Given the description of an element on the screen output the (x, y) to click on. 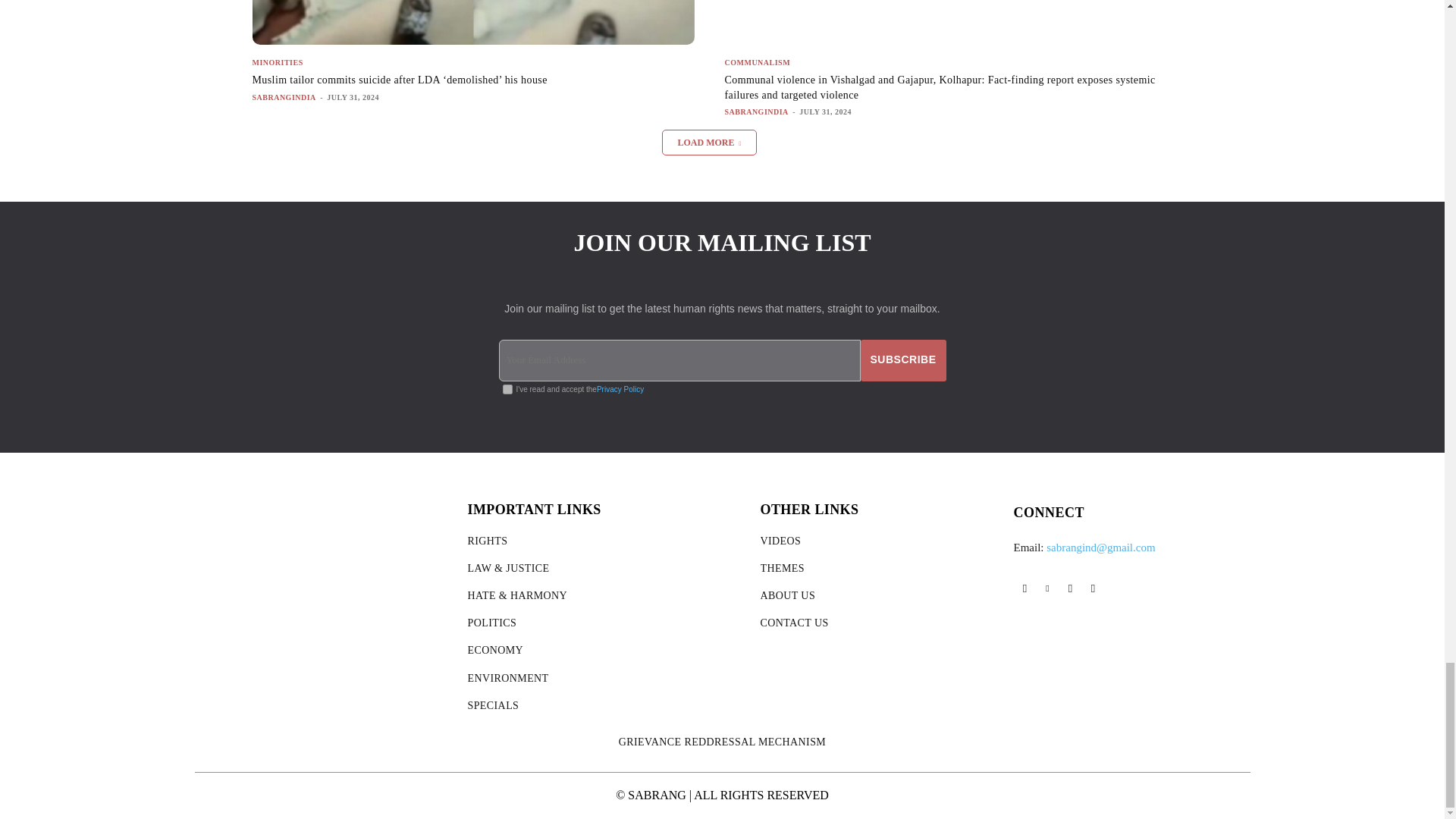
Subscribe (903, 360)
